Given the description of an element on the screen output the (x, y) to click on. 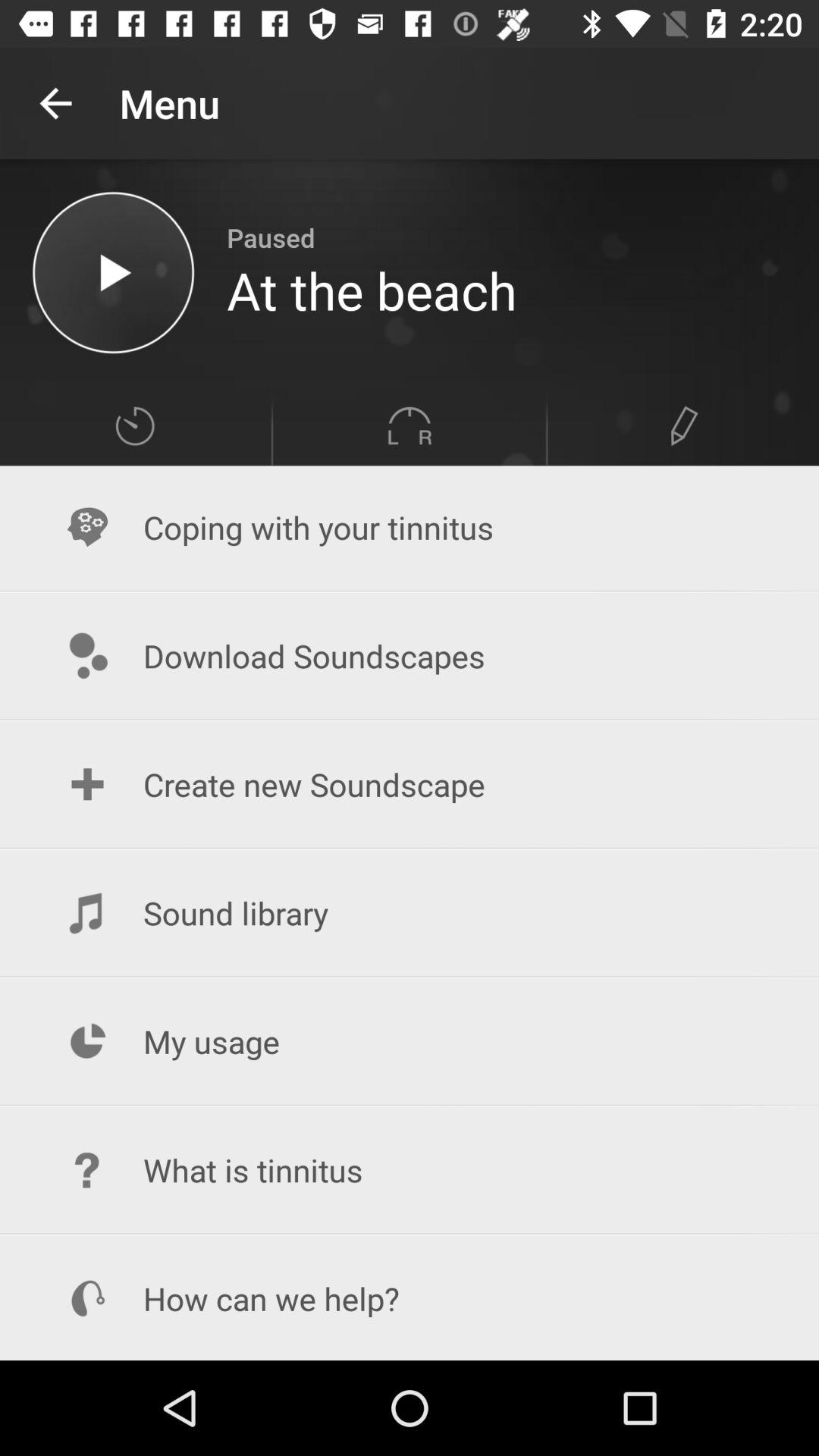
click item above my usage (409, 912)
